Given the description of an element on the screen output the (x, y) to click on. 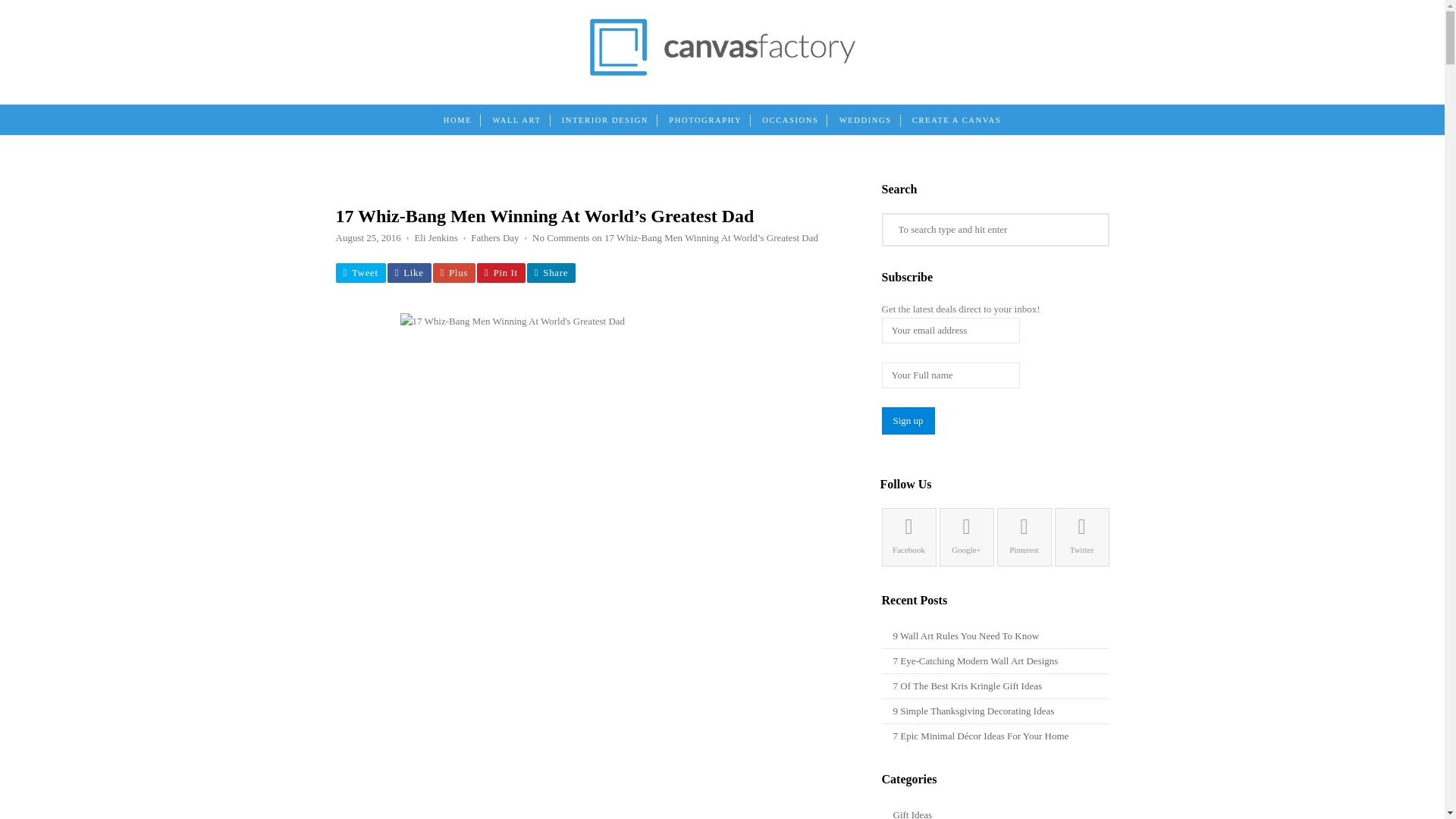
HOME (456, 120)
Sign up (907, 420)
Canvas Factory (722, 71)
Share on Twitter (359, 272)
CREATE A CANVAS (956, 120)
WEDDINGS (865, 120)
PHOTOGRAPHY (705, 120)
Share on Facebook (408, 272)
Plus (454, 272)
INTERIOR DESIGN (605, 120)
Like (408, 272)
Wall Art (516, 120)
Share on LinkedIn (551, 272)
Fathers Day (494, 237)
Pin It (501, 272)
